Given the description of an element on the screen output the (x, y) to click on. 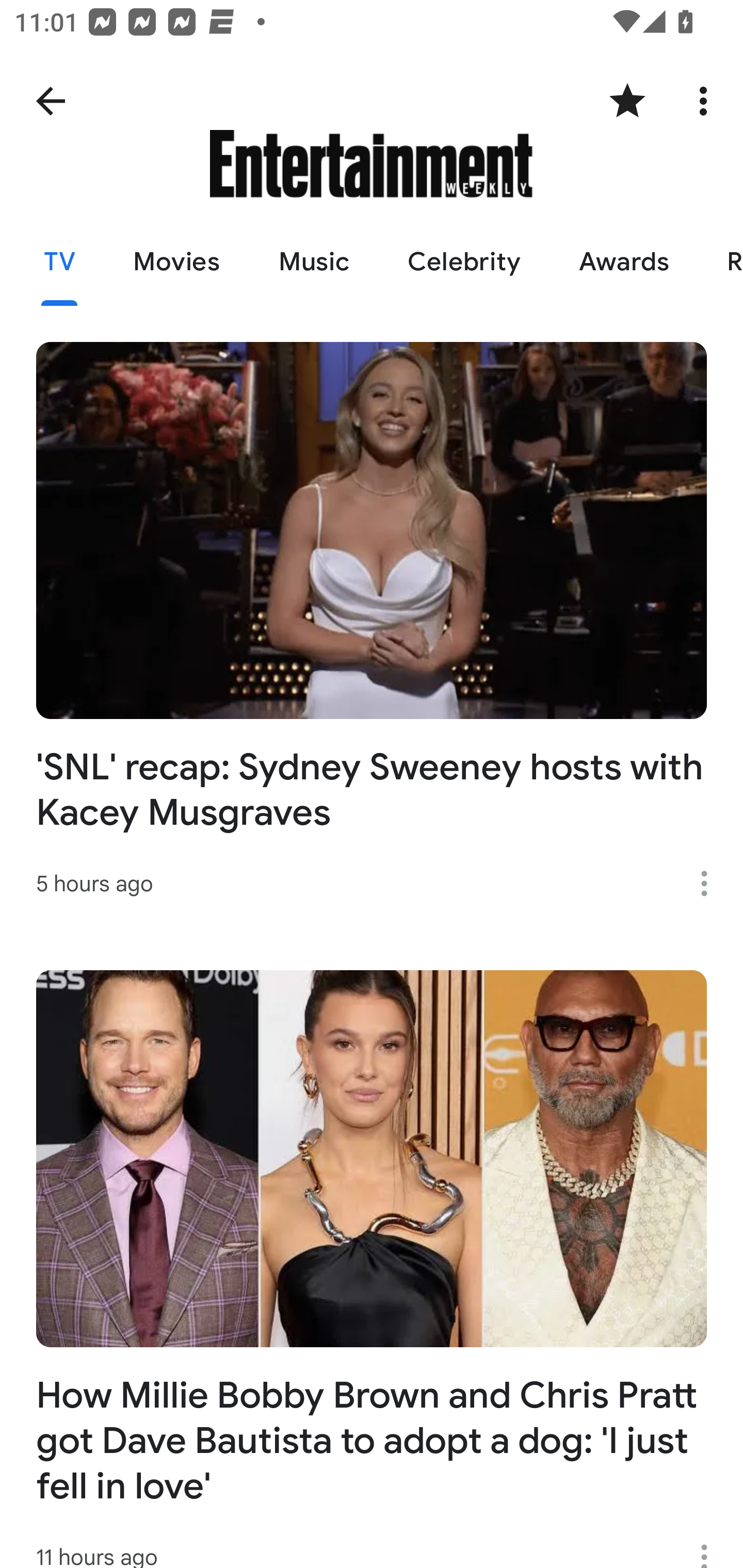
Navigate up (50, 101)
Unfollow (626, 101)
More options (706, 101)
Movies (176, 262)
Music (313, 262)
Celebrity (463, 262)
Awards (623, 262)
More options (711, 883)
More options (711, 1546)
